Given the description of an element on the screen output the (x, y) to click on. 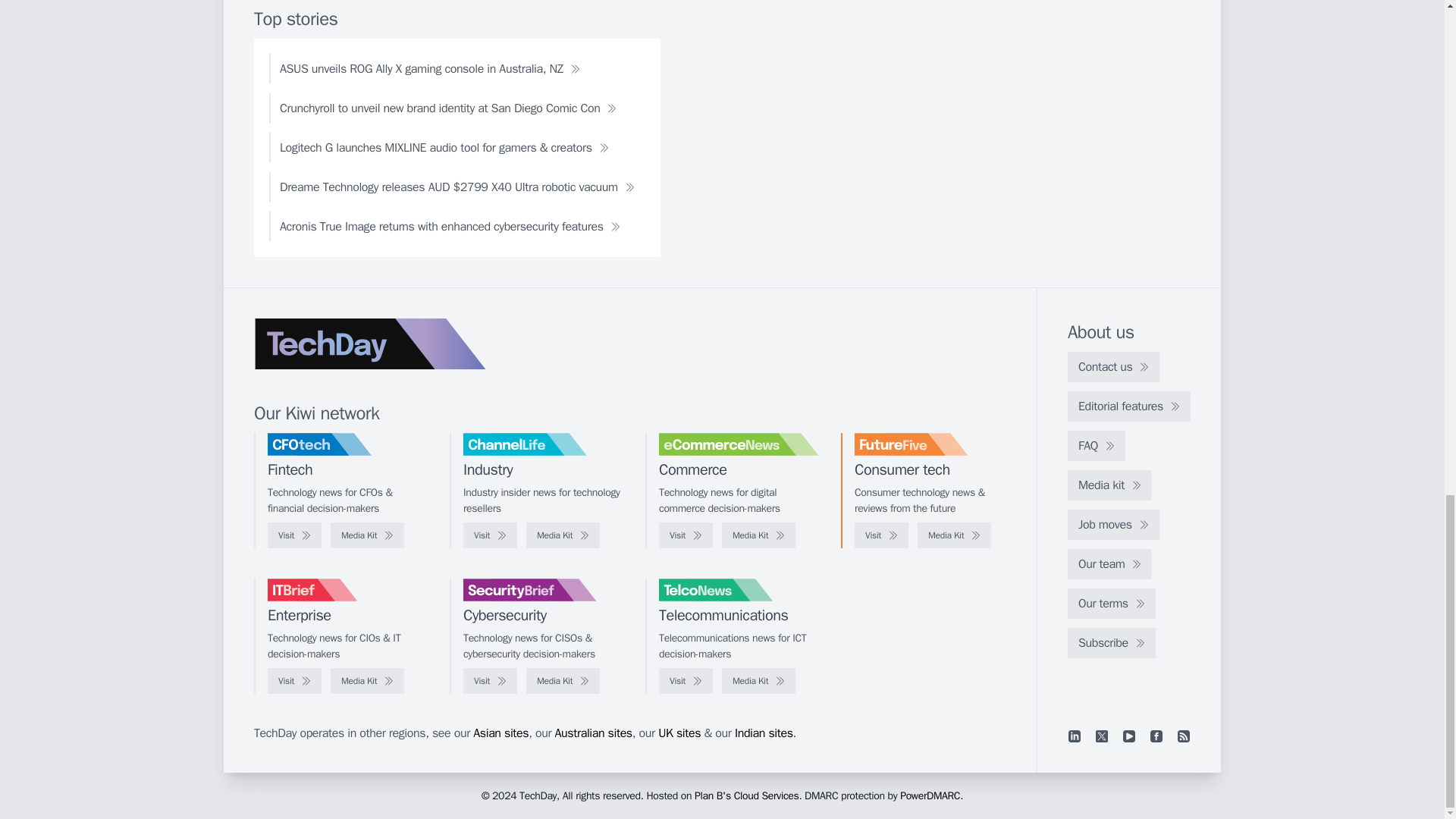
Media Kit (562, 534)
Visit (294, 534)
Media Kit (367, 534)
Visit (489, 534)
ASUS unveils ROG Ally X gaming console in Australia, NZ (430, 69)
Visit (881, 534)
Media Kit (954, 534)
Visit (686, 534)
Media Kit (758, 534)
